Given the description of an element on the screen output the (x, y) to click on. 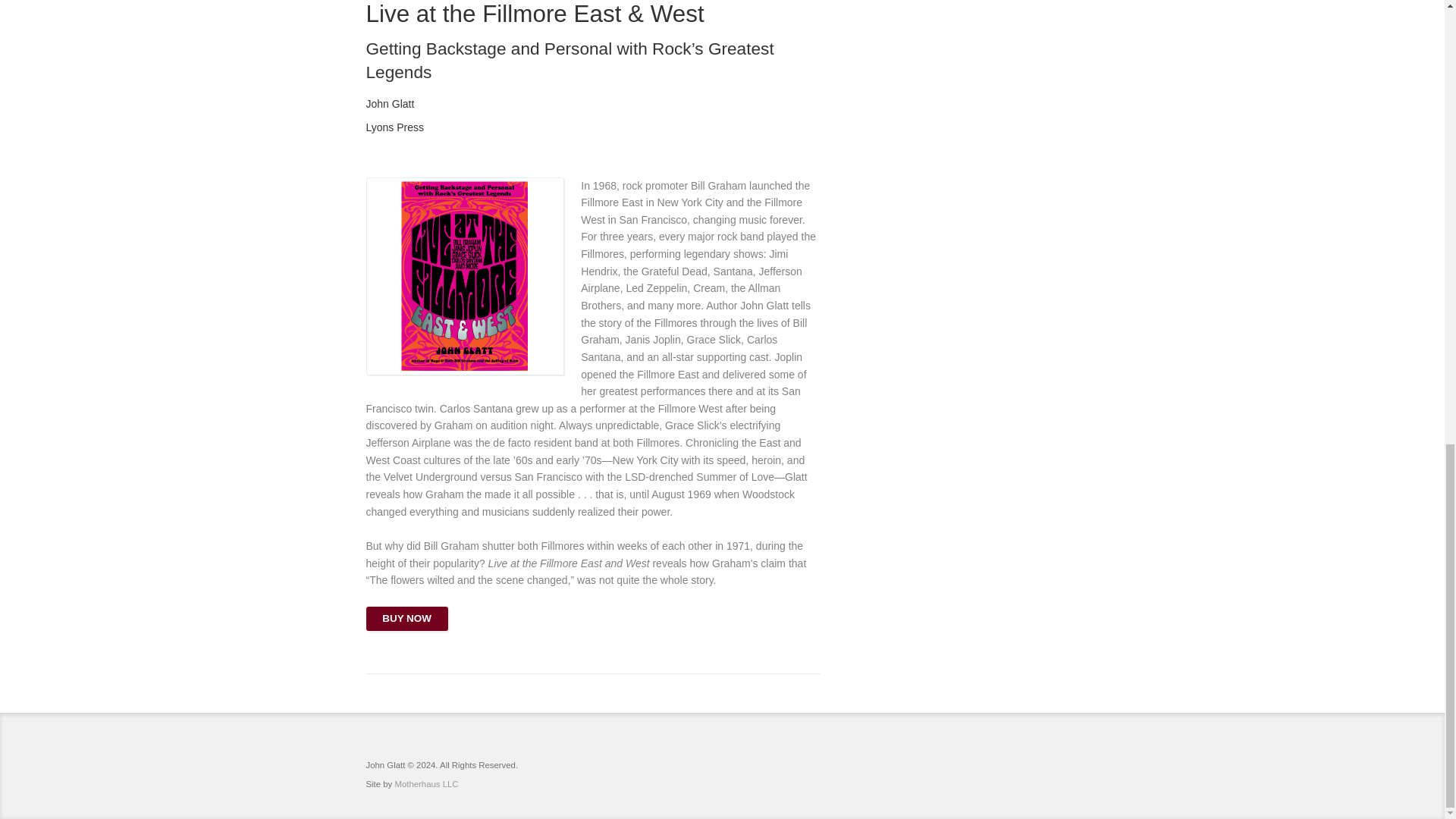
Motherhaus LLC (426, 783)
BUY NOW (405, 618)
